Given the description of an element on the screen output the (x, y) to click on. 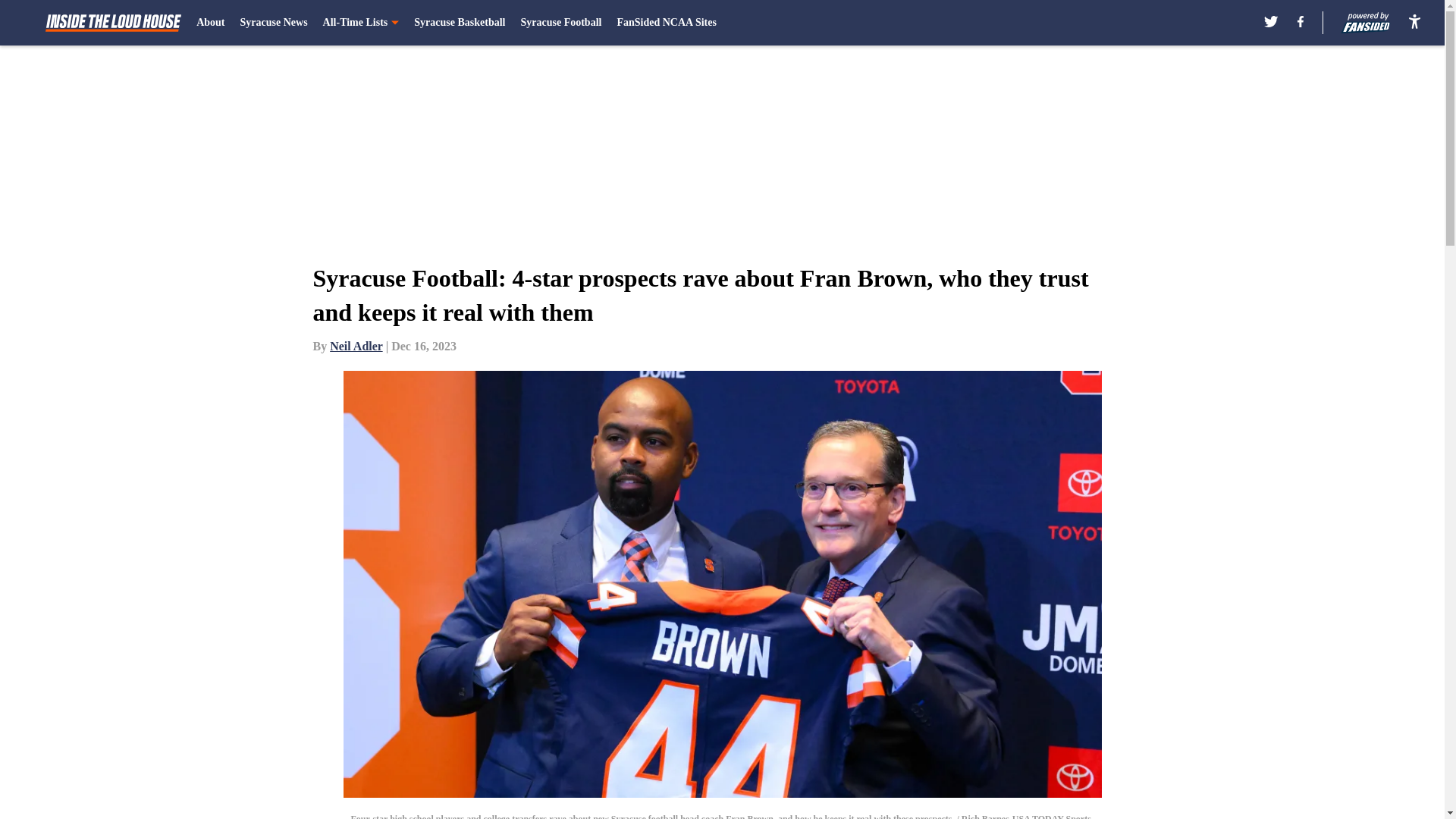
About (210, 22)
Syracuse News (273, 22)
Syracuse Basketball (459, 22)
Neil Adler (355, 345)
FanSided NCAA Sites (665, 22)
Syracuse Football (560, 22)
